Given the description of an element on the screen output the (x, y) to click on. 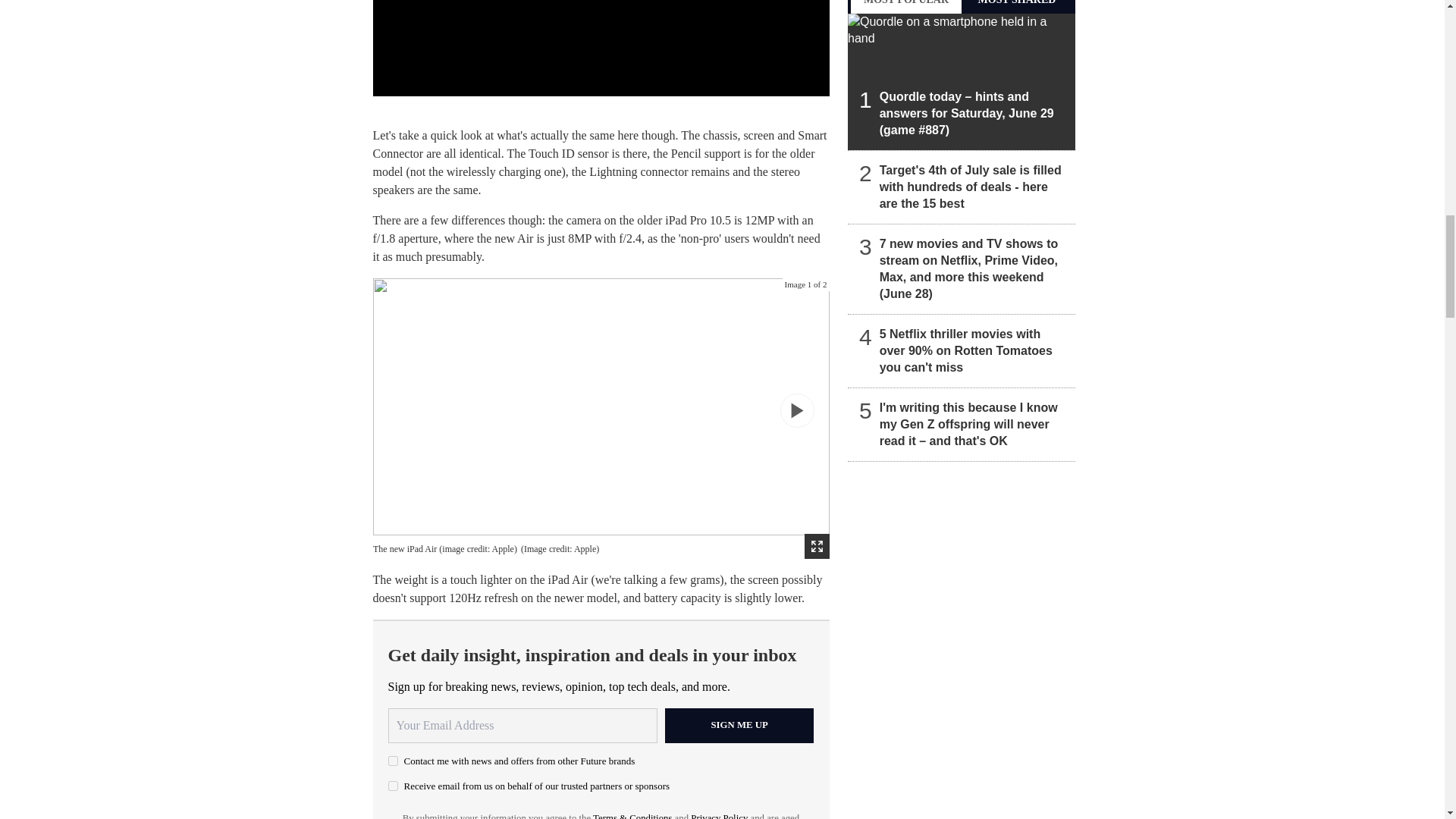
Sign me up (739, 725)
on (392, 760)
on (392, 786)
